Given the description of an element on the screen output the (x, y) to click on. 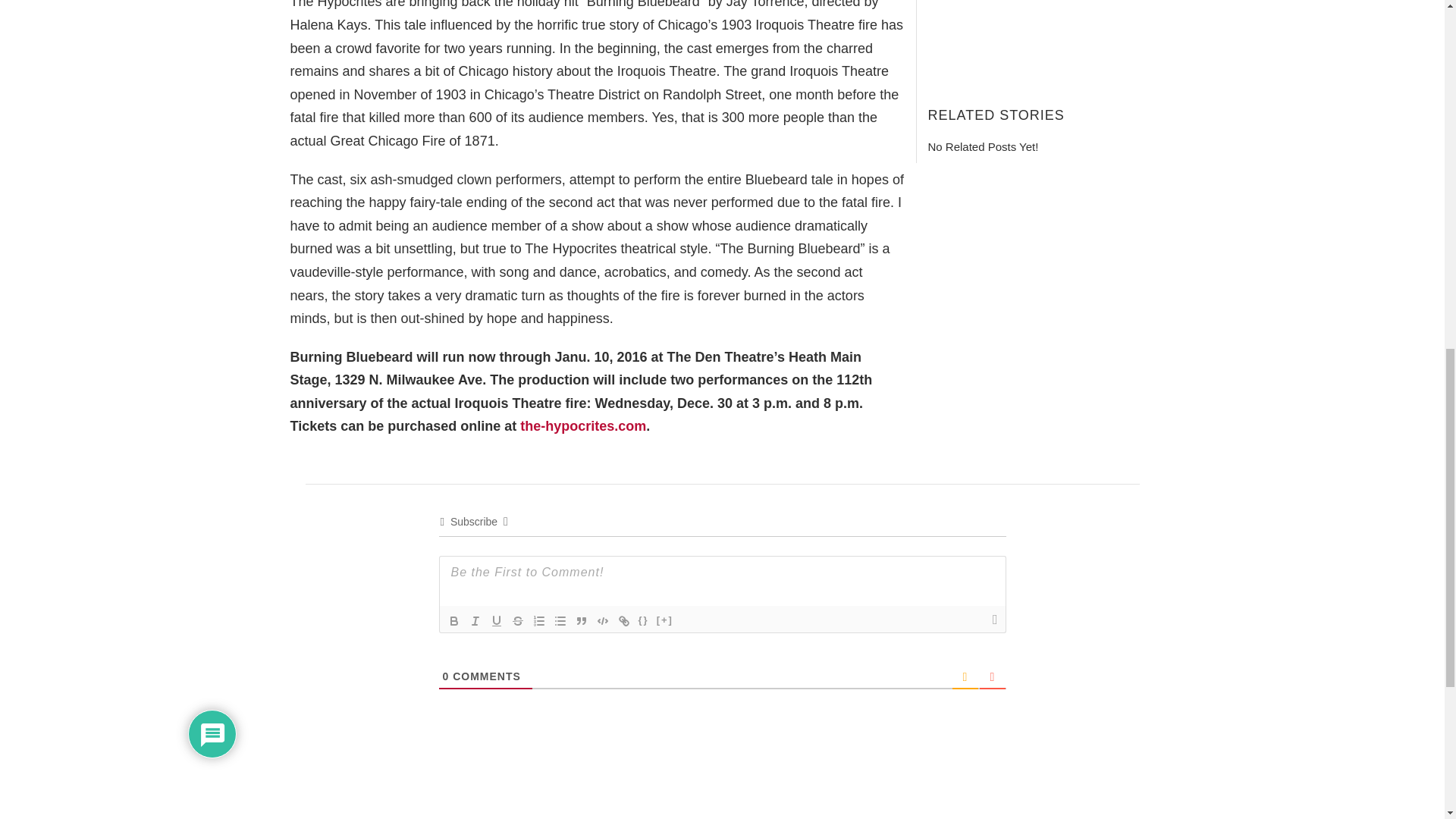
the-hypocrites.com (582, 426)
